Given the description of an element on the screen output the (x, y) to click on. 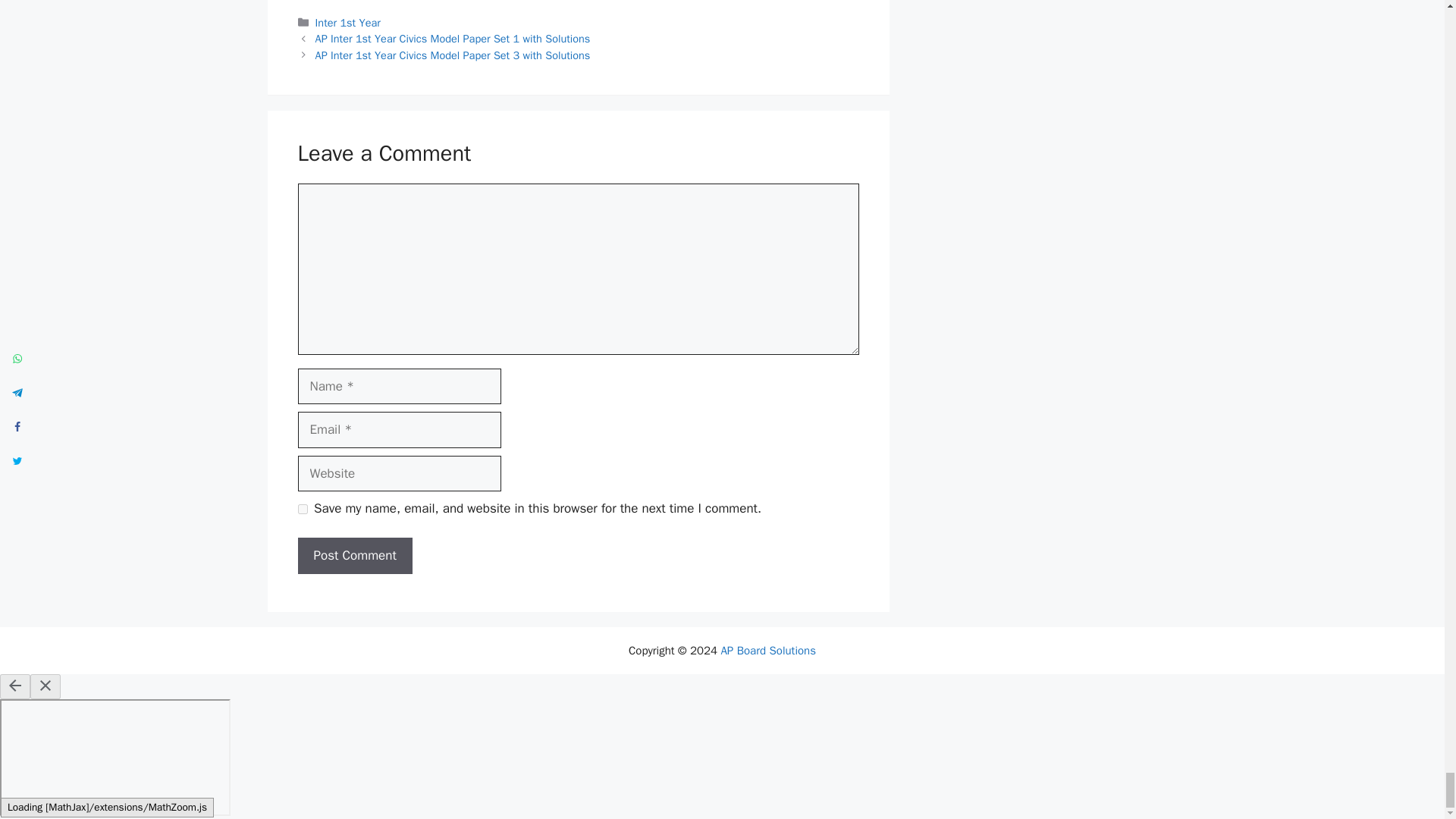
Post Comment (354, 555)
AP Board Solutions (767, 650)
AP Inter 1st Year Civics Model Paper Set 3 with Solutions (453, 55)
Post Comment (354, 555)
yes (302, 509)
AP Inter 1st Year Civics Model Paper Set 1 with Solutions (453, 38)
Inter 1st Year (347, 22)
Previous (453, 38)
Next (453, 55)
